Given the description of an element on the screen output the (x, y) to click on. 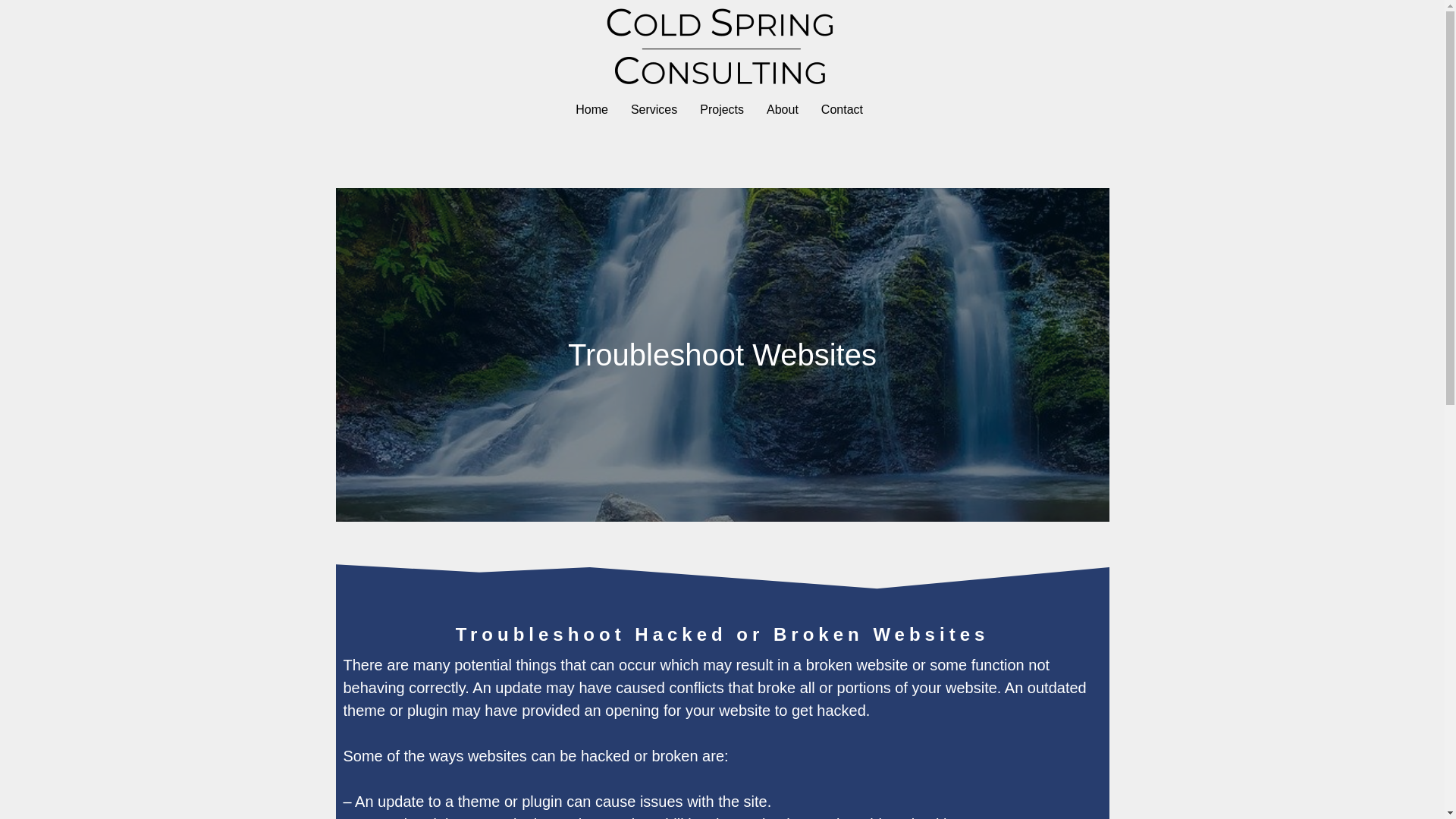
Projects (721, 109)
About (782, 109)
Home (592, 109)
Contact (842, 109)
Services (654, 109)
